Given the description of an element on the screen output the (x, y) to click on. 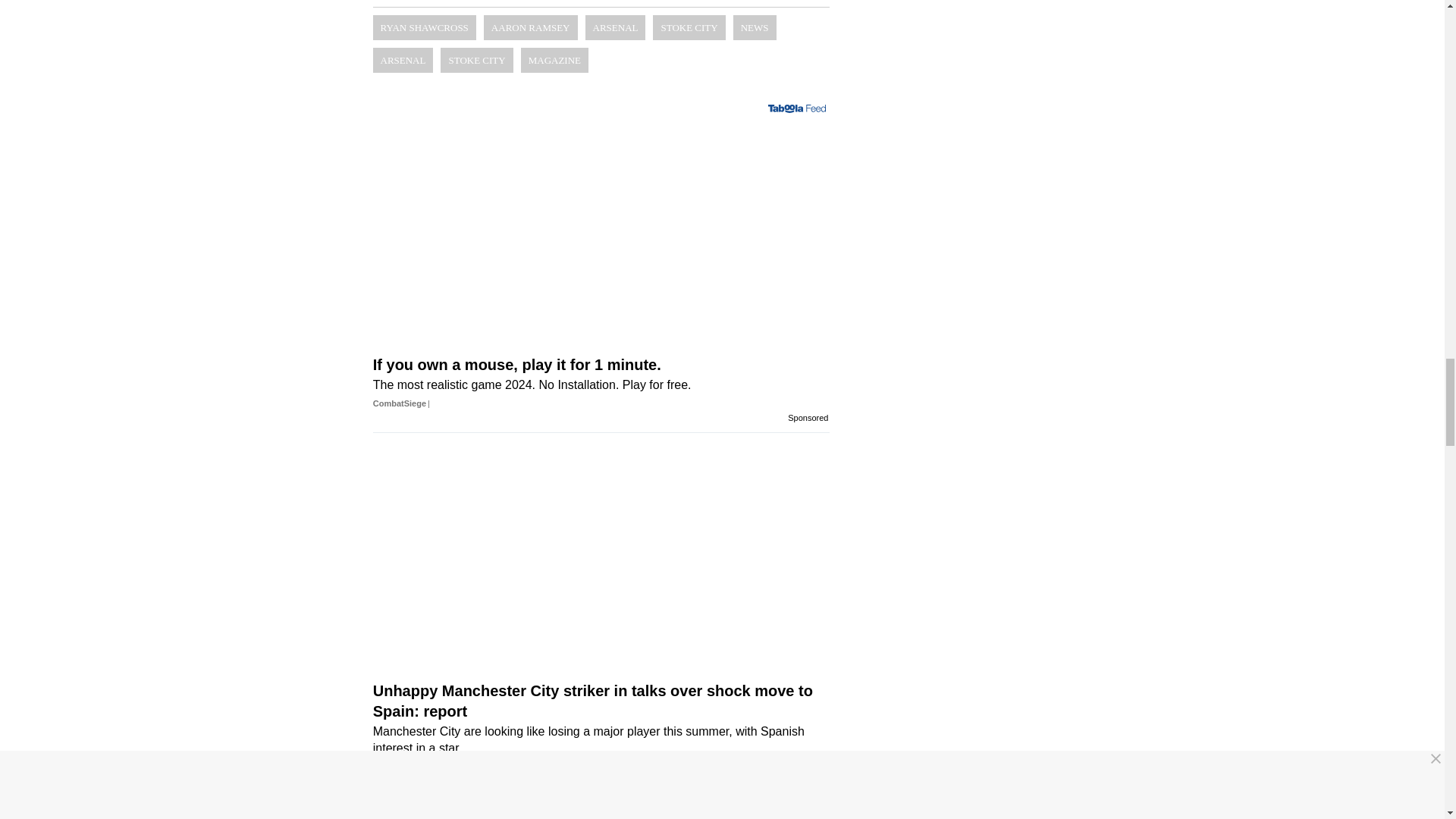
If you own a mouse, play it for 1 minute. (600, 391)
If you own a mouse, play it for 1 minute. (600, 244)
They Fell In Love On Set And No One Knew (600, 815)
